Given the description of an element on the screen output the (x, y) to click on. 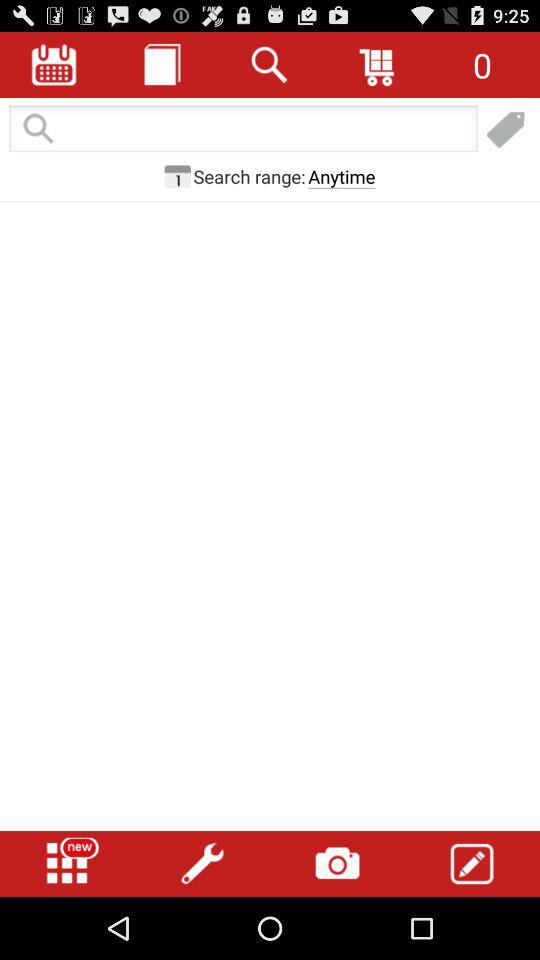
go to calendar (53, 64)
